Given the description of an element on the screen output the (x, y) to click on. 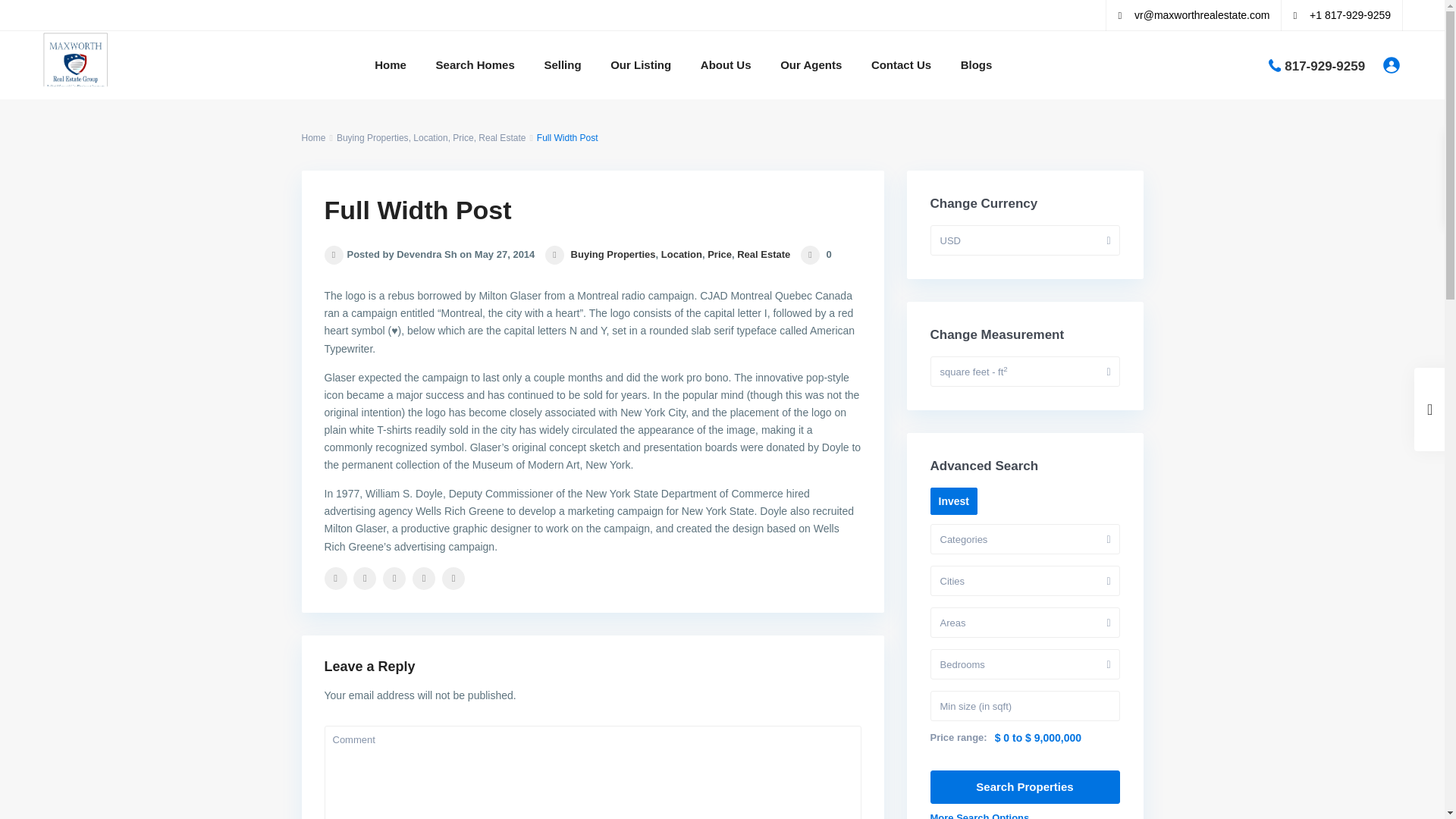
817-929-9259 (1324, 65)
Contact Us (901, 65)
Our Listing (640, 65)
Search Homes (475, 65)
About Us (725, 65)
Search Properties (1024, 786)
Our Agents (810, 65)
